Given the description of an element on the screen output the (x, y) to click on. 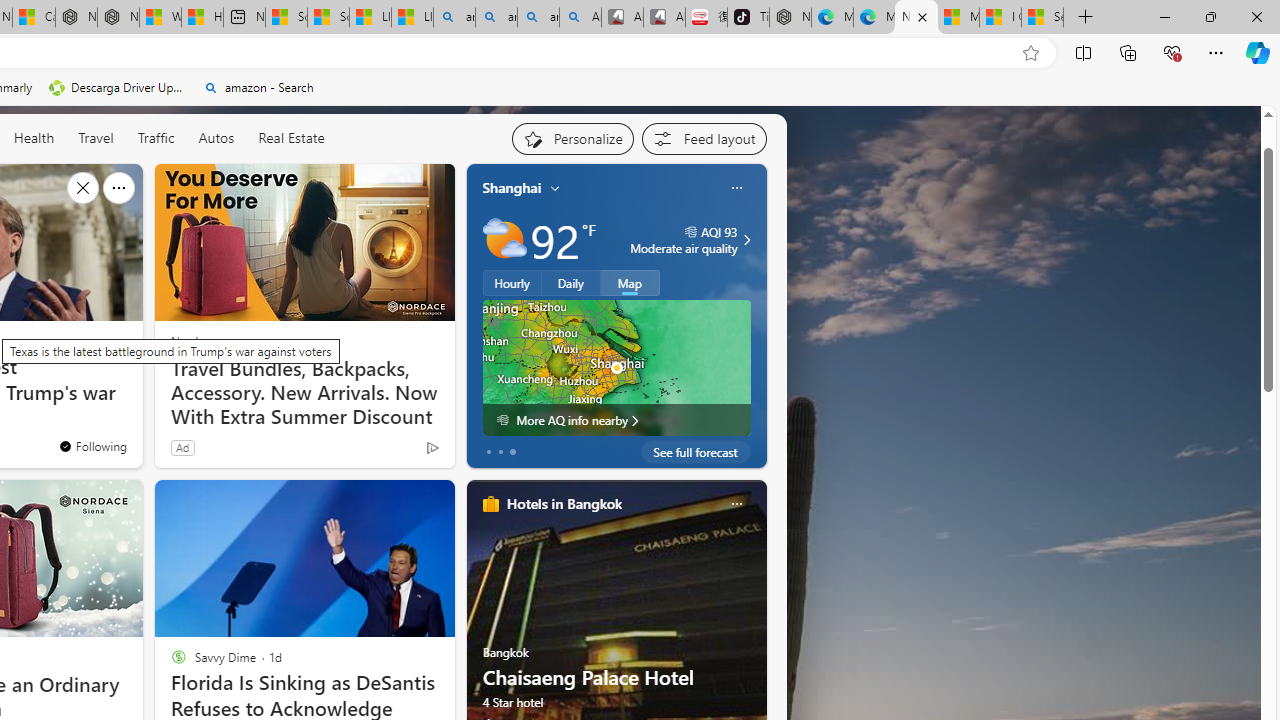
Class: icon-img (736, 503)
Huge shark washes ashore at New York City beach | Watch (201, 17)
This story is trending (393, 452)
See full forecast (695, 451)
aqi-icon (690, 232)
Moderate air quality (744, 239)
Autos (215, 137)
Health (34, 137)
